Given the description of an element on the screen output the (x, y) to click on. 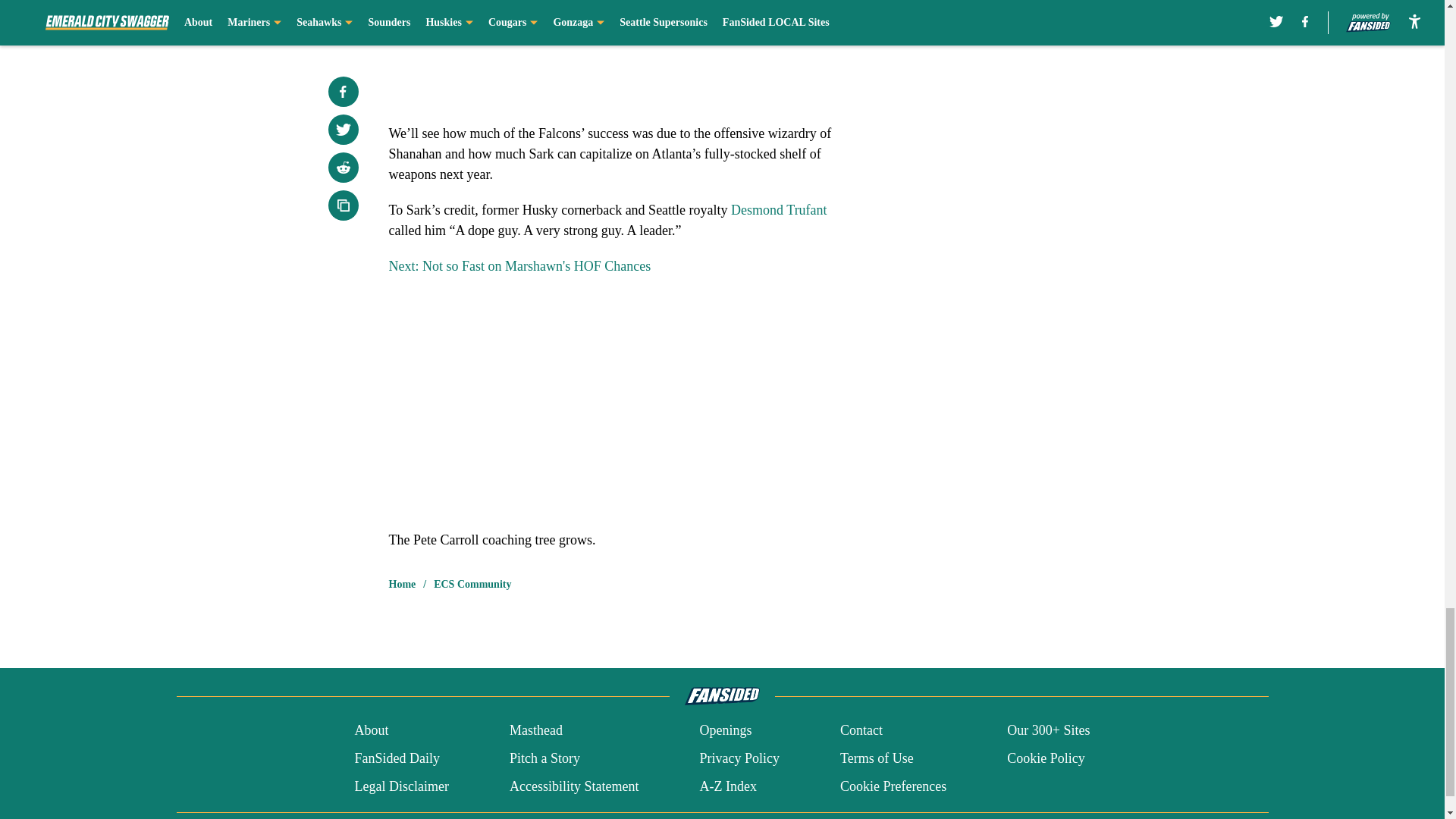
Desmond Trufant (778, 209)
